Given the description of an element on the screen output the (x, y) to click on. 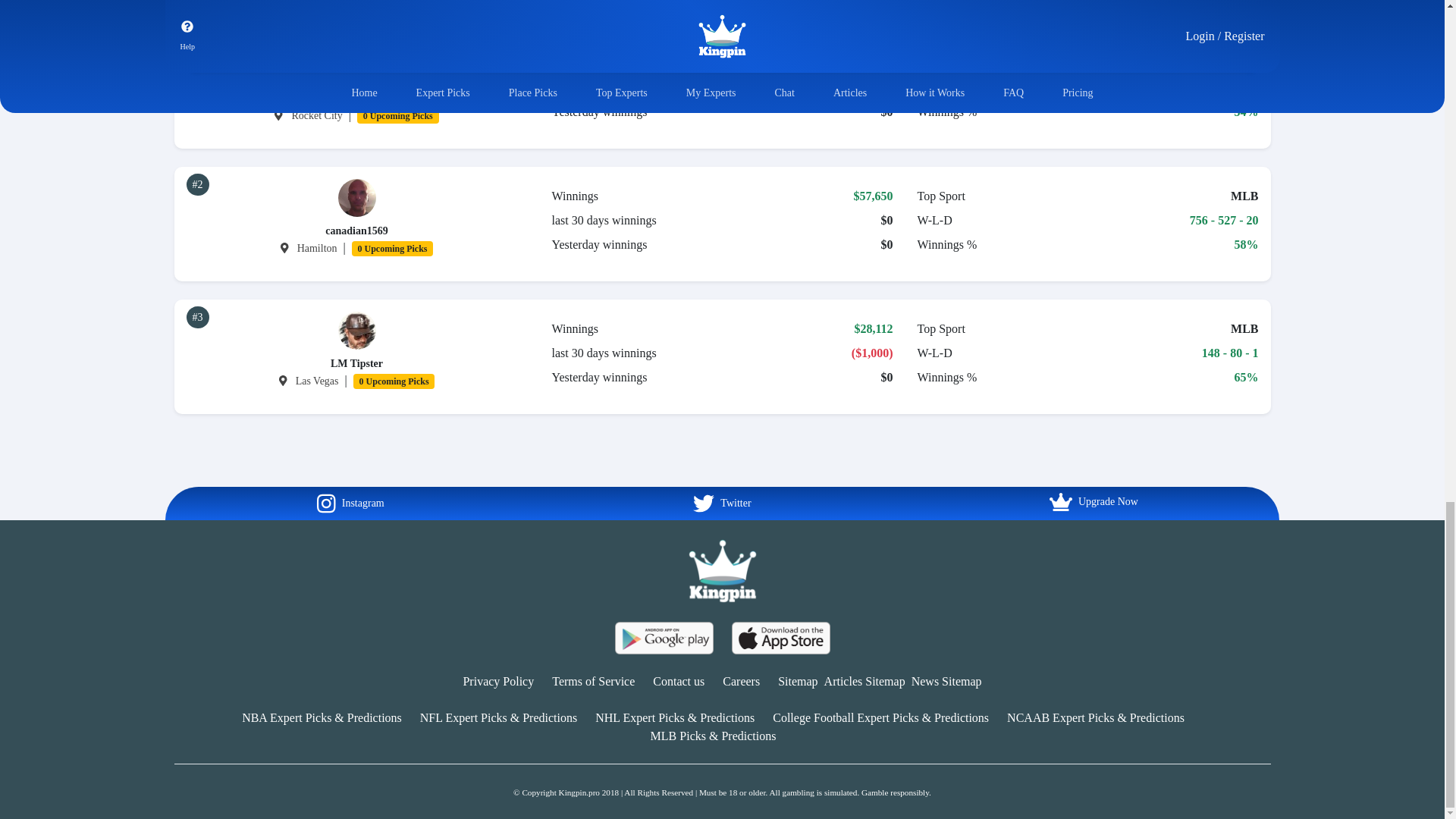
Privacy Policy (498, 680)
Instagram (350, 503)
0 Upcoming Picks (392, 246)
Twitter (721, 503)
Terms of Service (592, 680)
the Wolfe (356, 98)
0 Upcoming Picks (394, 379)
Upgrade Now (1093, 502)
0 Upcoming Picks (397, 114)
Contact us (678, 680)
canadian1569 (355, 230)
LM Tipster (356, 363)
